Given the description of an element on the screen output the (x, y) to click on. 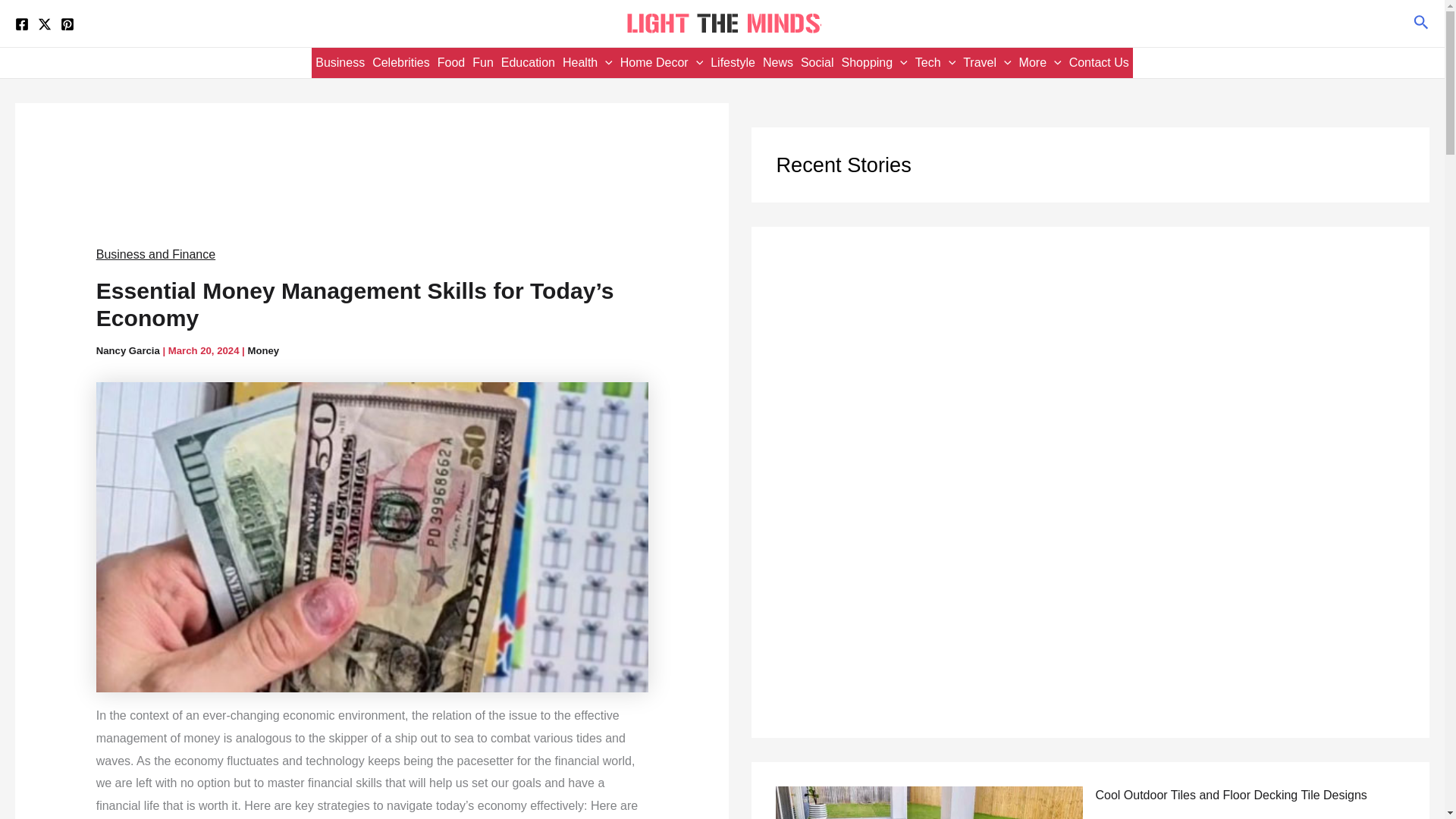
Social (817, 62)
Lifestyle (732, 62)
Food (450, 62)
Celebrities (400, 62)
Fun (482, 62)
Business (339, 62)
Health (587, 62)
Shopping (874, 62)
News (777, 62)
Home Decor (660, 62)
